Given the description of an element on the screen output the (x, y) to click on. 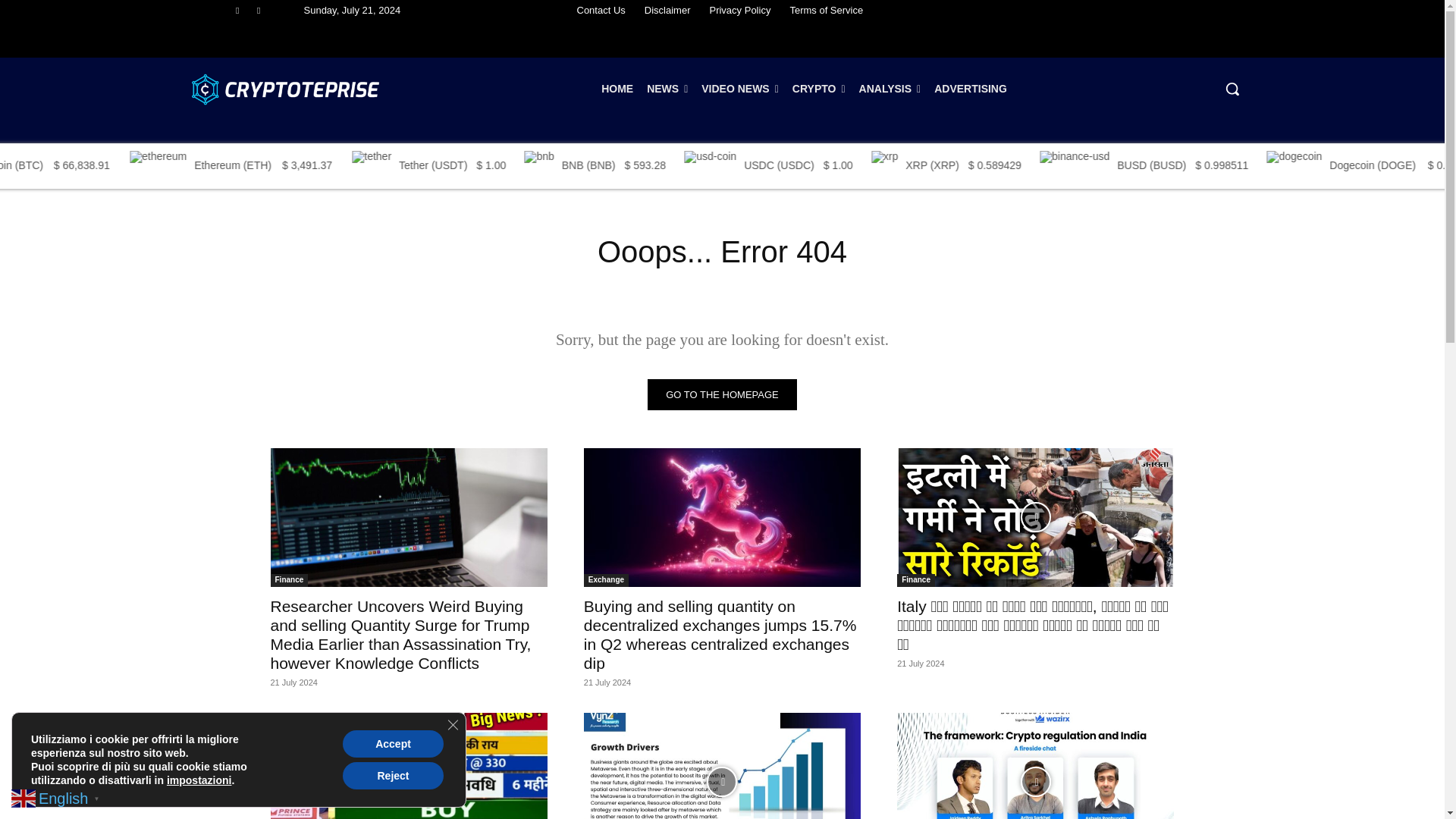
Facebook (237, 9)
HOME (617, 88)
Twitter (258, 9)
Go to the homepage (721, 394)
Disclaimer (667, 10)
Privacy Policy (739, 10)
Terms of Service (826, 10)
Contact Us (600, 10)
NEWS (667, 88)
